Given the description of an element on the screen output the (x, y) to click on. 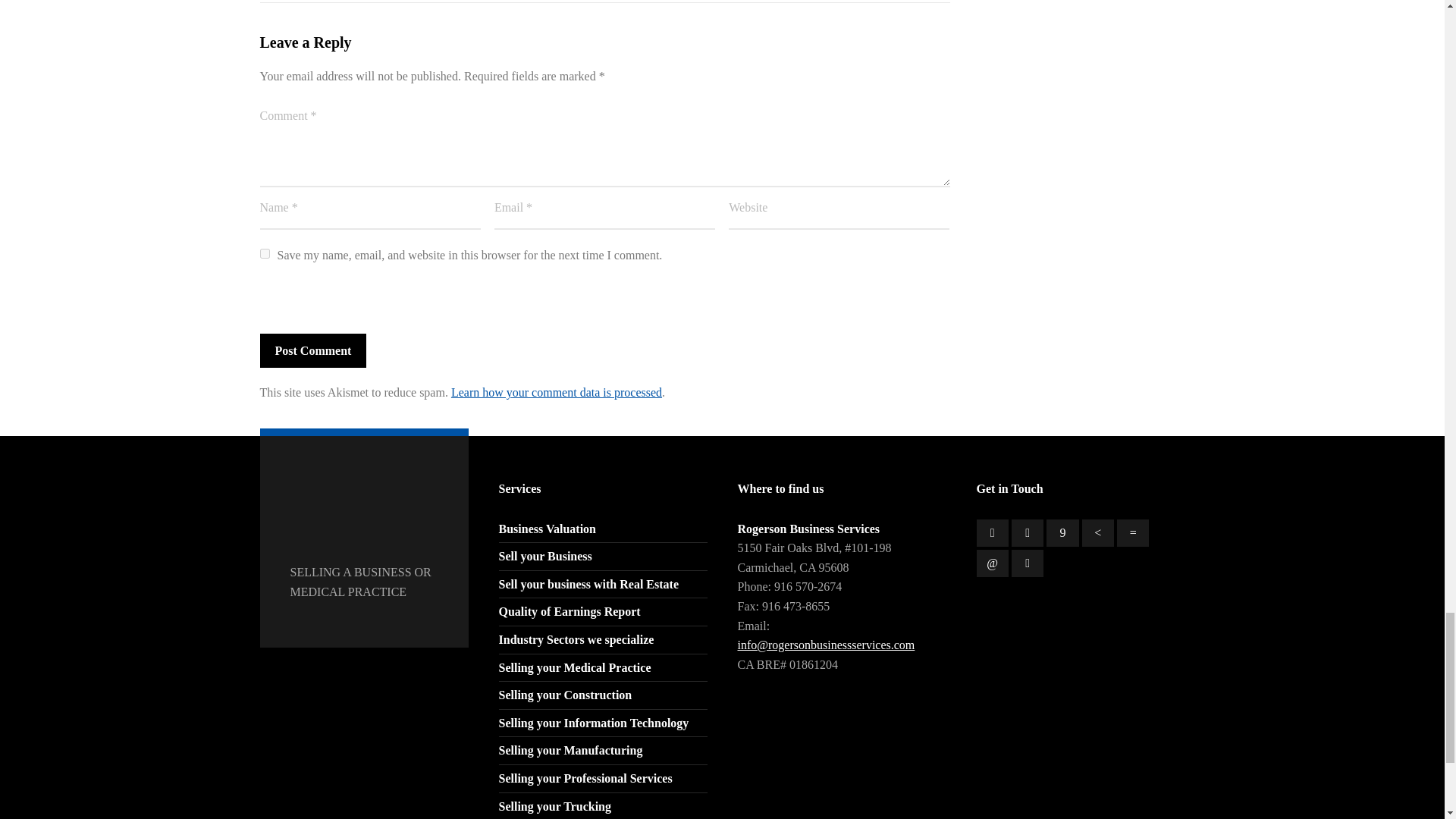
Post Comment (312, 350)
yes (264, 253)
